Given the description of an element on the screen output the (x, y) to click on. 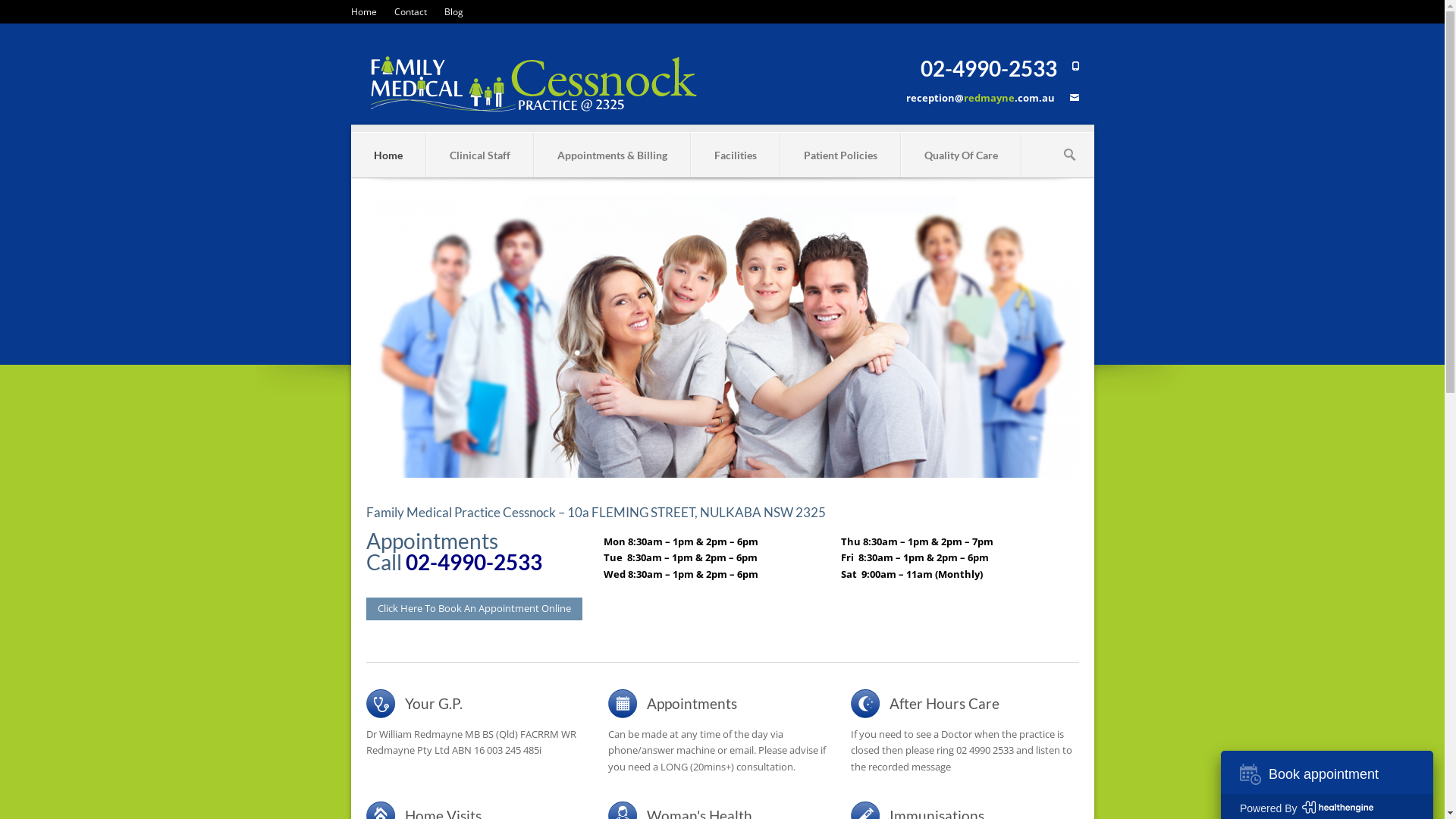
Quality Of Care Element type: text (959, 155)
Contact Element type: text (410, 11)
Click Here To Book An Appointment Online Element type: text (473, 608)
Home Element type: text (363, 11)
Clinical Staff Element type: text (479, 155)
Appointments & Billing Element type: text (611, 155)
Facilities Element type: text (735, 155)
Home Element type: text (387, 155)
reception@redmayne.com.au Element type: text (979, 97)
Patient Policies Element type: text (840, 155)
Blog Element type: text (453, 11)
